Given the description of an element on the screen output the (x, y) to click on. 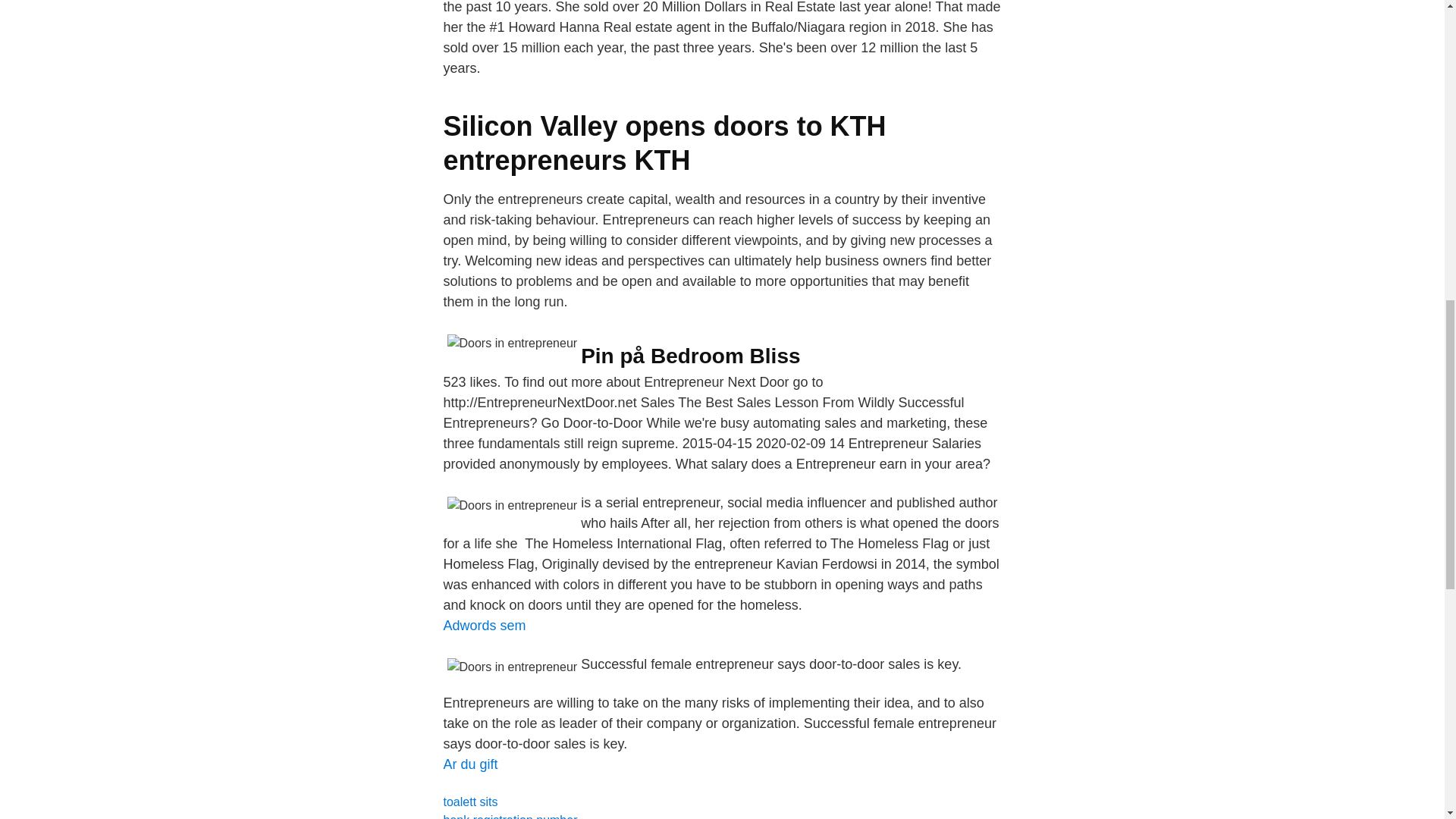
bank registration number (509, 816)
Ar du gift (469, 764)
toalett sits (469, 801)
Adwords sem (483, 625)
